Given the description of an element on the screen output the (x, y) to click on. 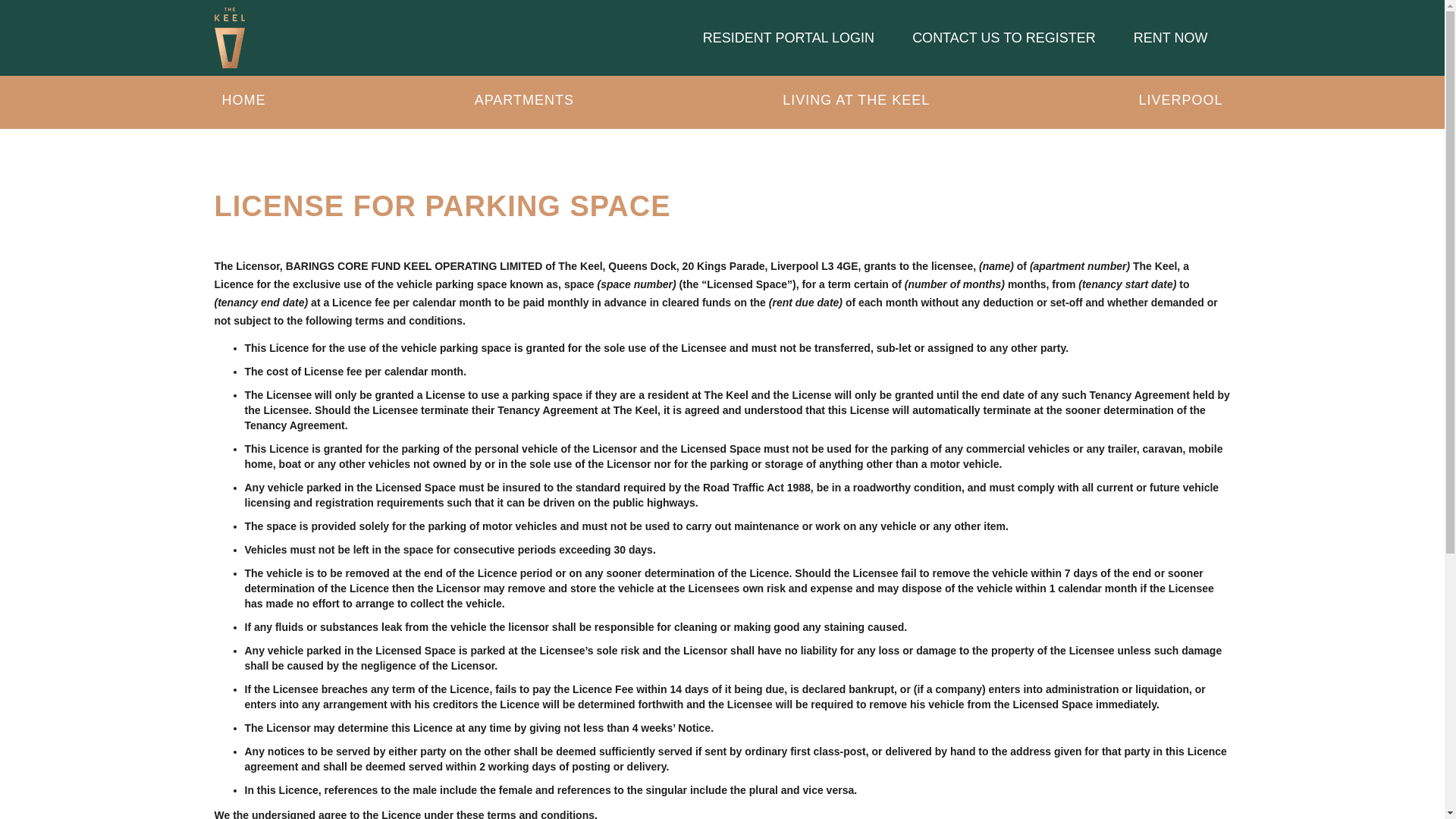
APARTMENTS (523, 102)
LIVING AT THE KEEL (855, 102)
LIVERPOOL (1180, 102)
RENT NOW (1163, 37)
HOME (243, 102)
RESIDENT PORTAL LOGIN (796, 37)
CONTACT US TO REGISTER (1003, 37)
